Given the description of an element on the screen output the (x, y) to click on. 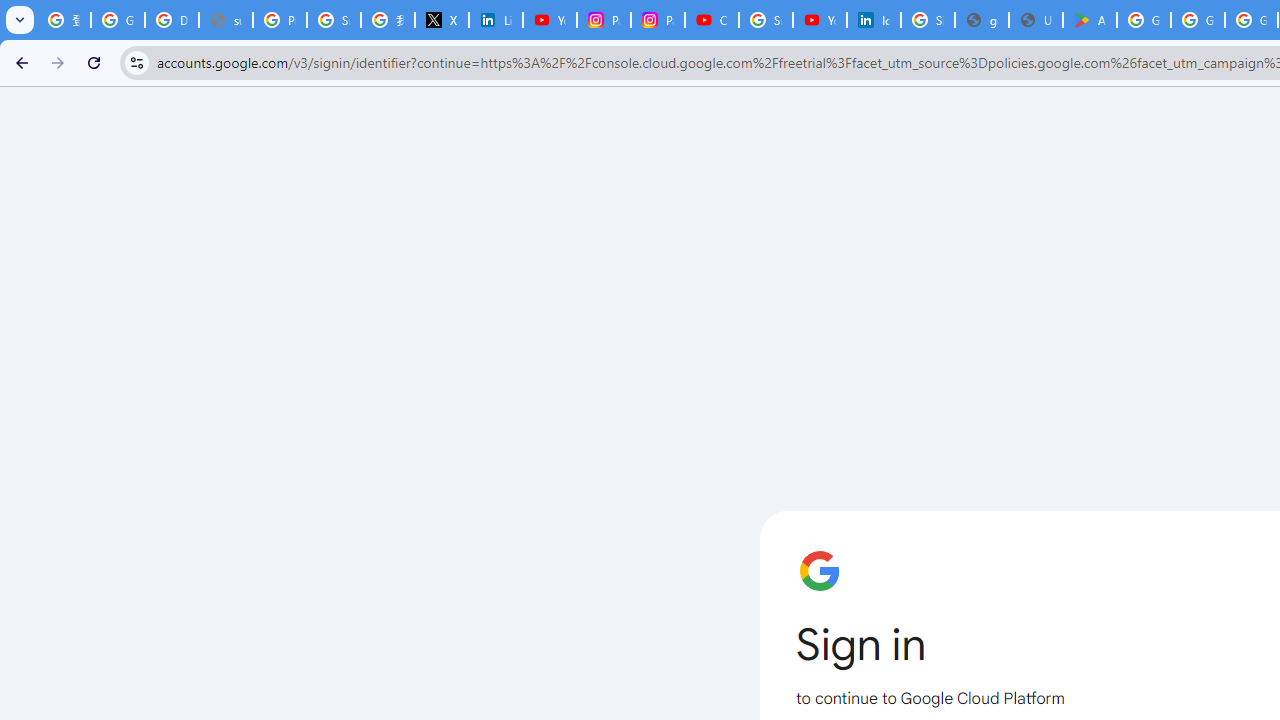
Privacy Help Center - Policies Help (280, 20)
X (441, 20)
Sign in - Google Accounts (765, 20)
support.google.com - Network error (225, 20)
YouTube Content Monetization Policies - How YouTube Works (550, 20)
User Details (1035, 20)
